Given the description of an element on the screen output the (x, y) to click on. 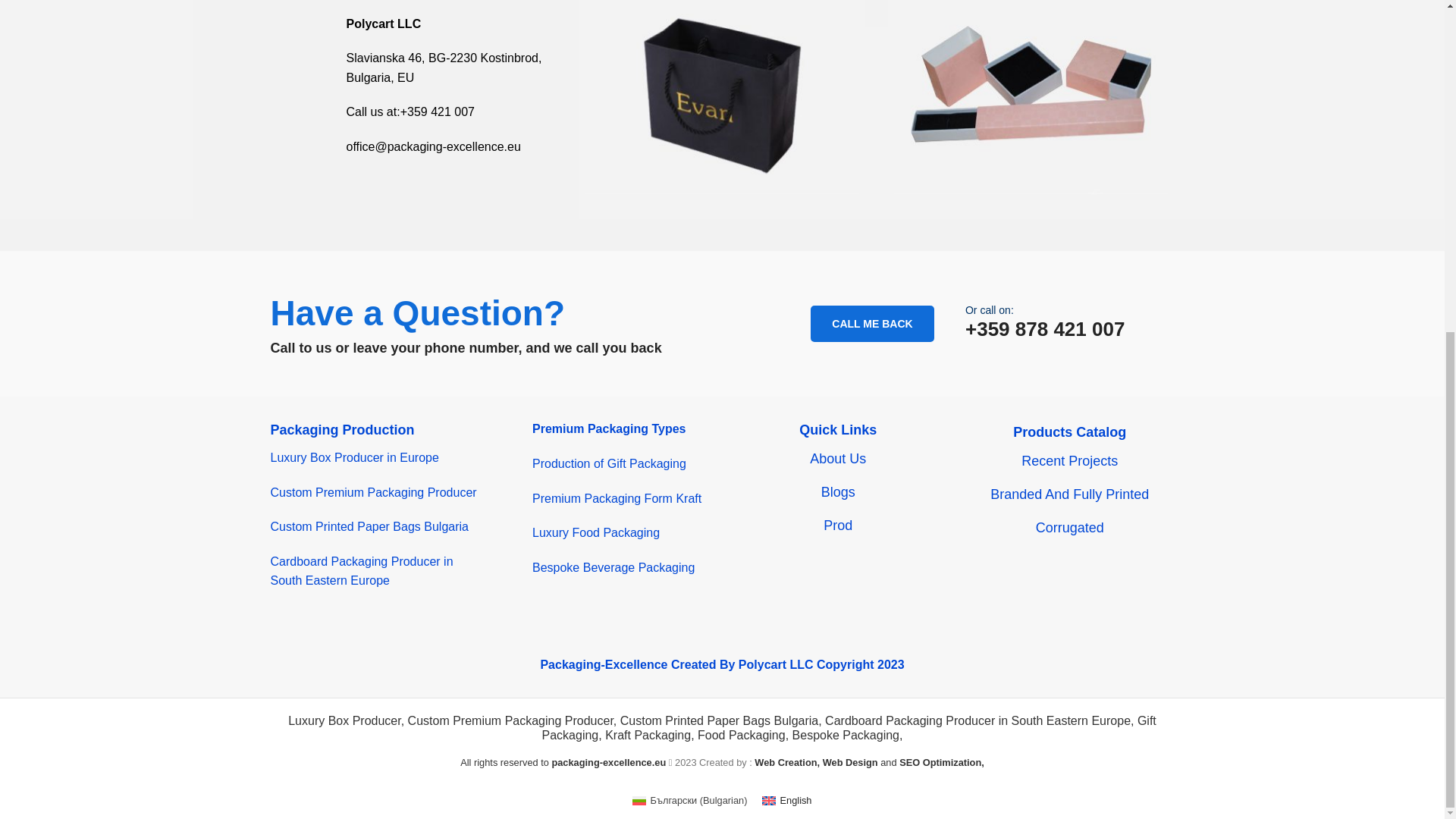
CALL ME BACK (871, 323)
premium-paper-bag-with-print (721, 97)
Premium-Pull-Out-Box (1030, 97)
